Given the description of an element on the screen output the (x, y) to click on. 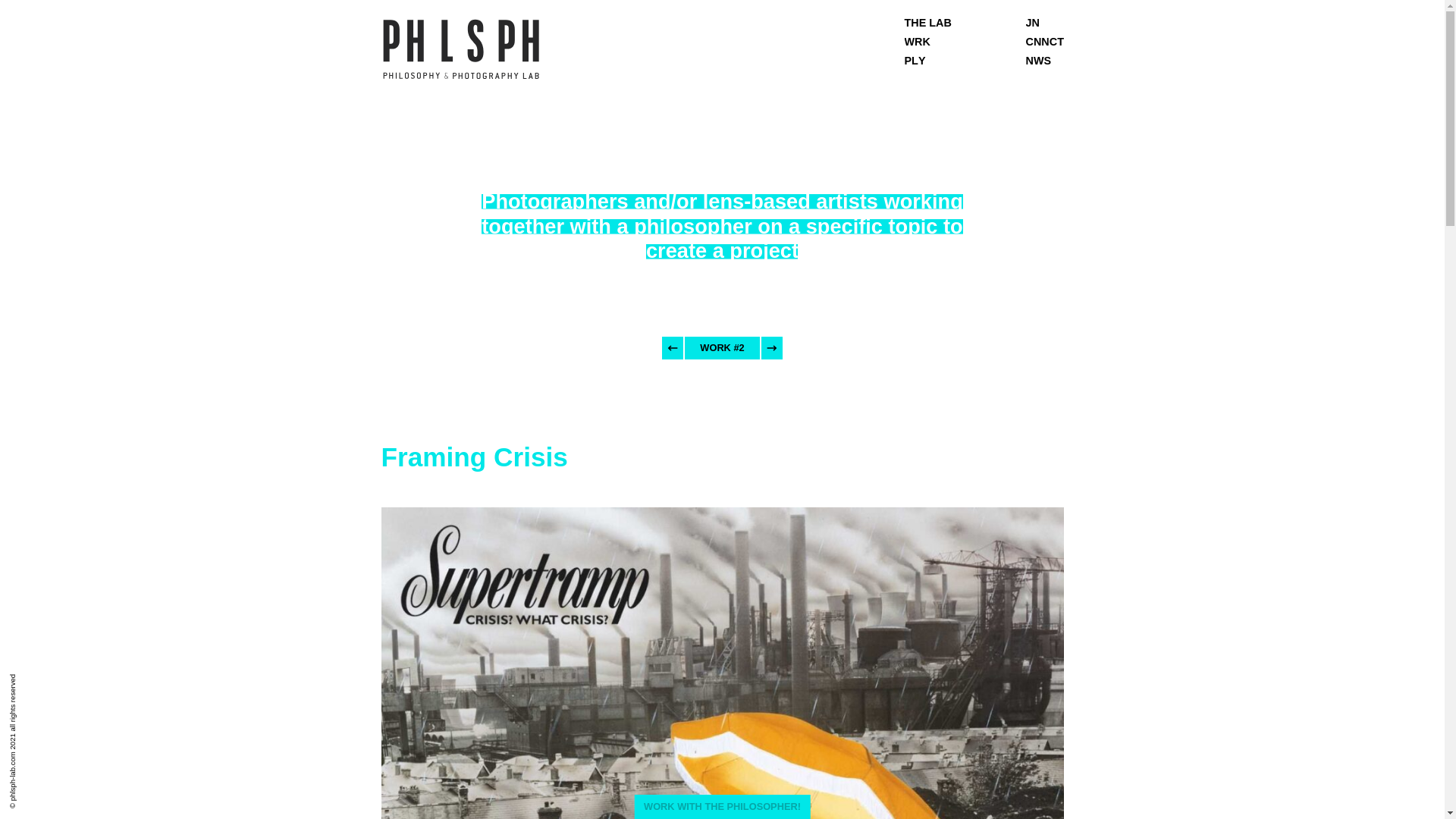
JN (1032, 22)
NWS (1038, 60)
PH L S PH (460, 49)
THE LAB (927, 22)
CNNCT (1043, 41)
PLY (914, 60)
WORK WITH THE PHILOSOPHER! (721, 806)
WRK (917, 41)
